Given the description of an element on the screen output the (x, y) to click on. 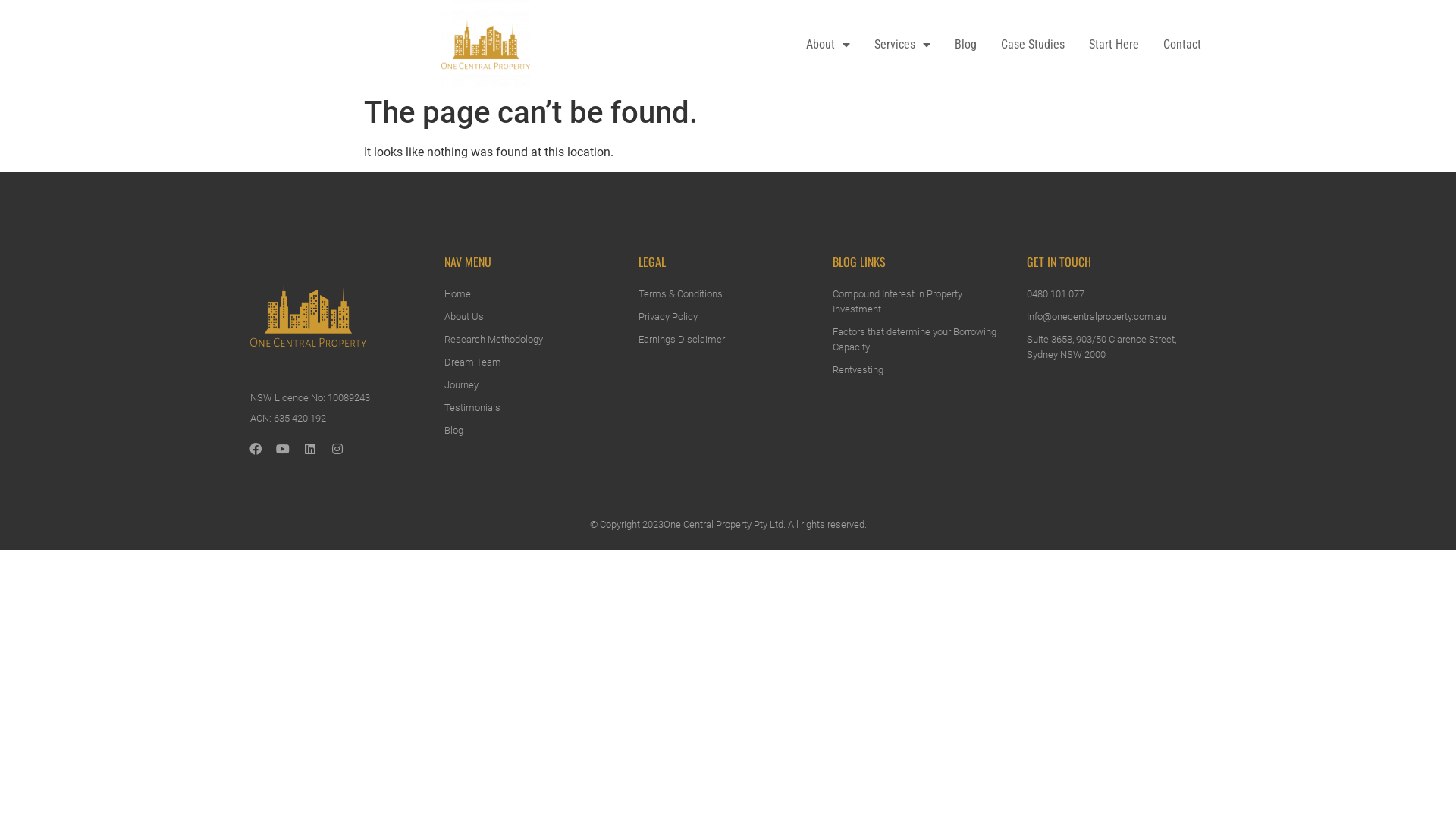
Blog Element type: text (965, 43)
Start Here Element type: text (1113, 43)
Research Methodology Element type: text (533, 339)
Dream Team Element type: text (533, 362)
Factors that determine your Borrowing Capacity Element type: text (921, 339)
Rentvesting Element type: text (921, 369)
Suite 3658, 903/50 Clarence Street, Sydney NSW 2000 Element type: text (1115, 347)
Terms & Conditions Element type: text (727, 293)
Earnings Disclaimer Element type: text (727, 339)
Blog Element type: text (533, 430)
Privacy Policy Element type: text (727, 316)
Home Element type: text (533, 293)
0480 101 077 Element type: text (1115, 293)
Contact Element type: text (1182, 43)
Journey Element type: text (533, 384)
Testimonials Element type: text (533, 407)
Case Studies Element type: text (1032, 43)
Info@onecentralproperty.com.au Element type: text (1115, 316)
About Element type: text (827, 43)
Services Element type: text (902, 43)
About Us Element type: text (533, 316)
Compound Interest in Property Investment Element type: text (921, 301)
